Given the description of an element on the screen output the (x, y) to click on. 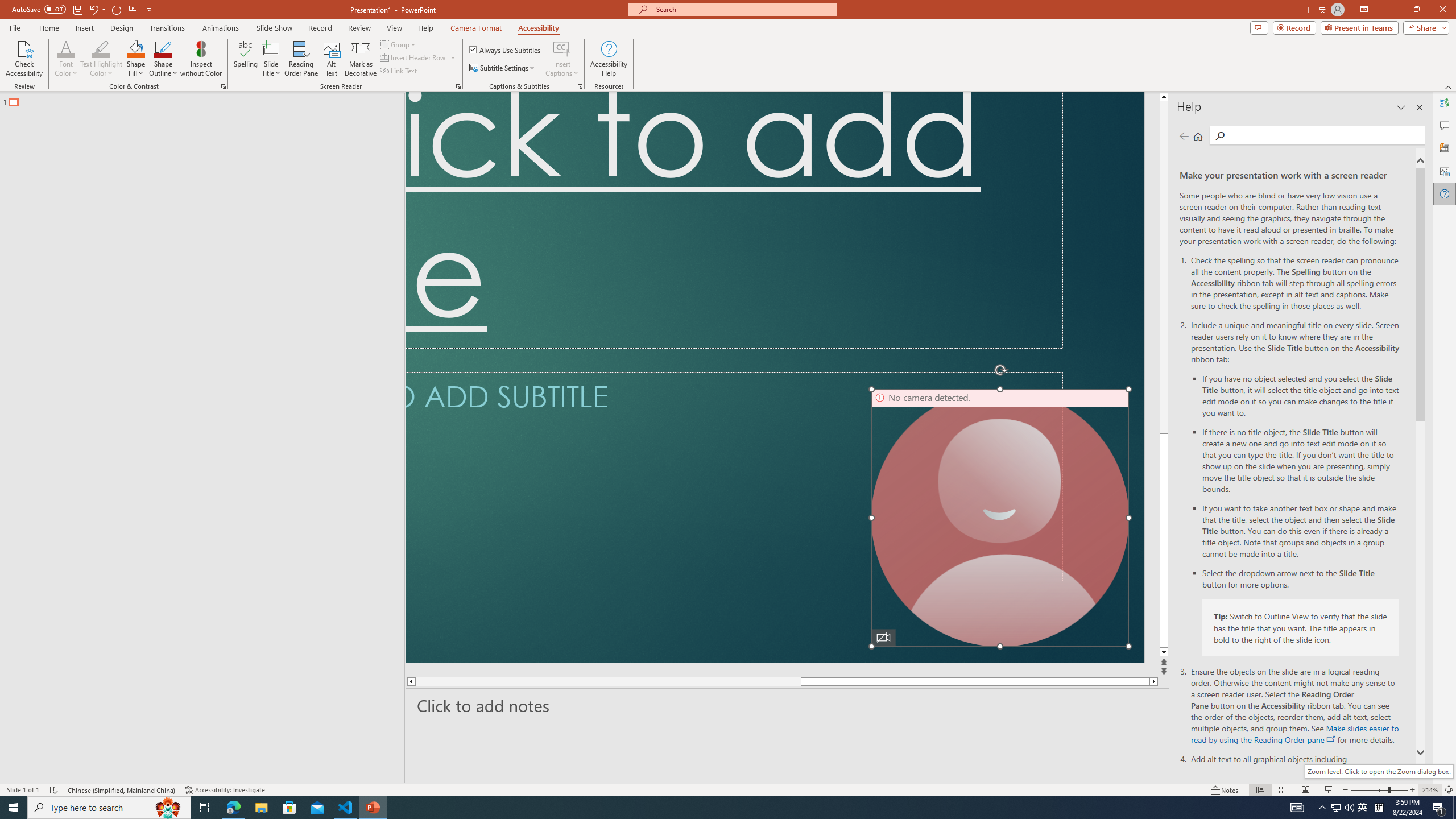
Decorative Locked (775, 376)
Color & Contrast (223, 85)
Insert Captions (561, 48)
Check Accessibility (23, 58)
